Given the description of an element on the screen output the (x, y) to click on. 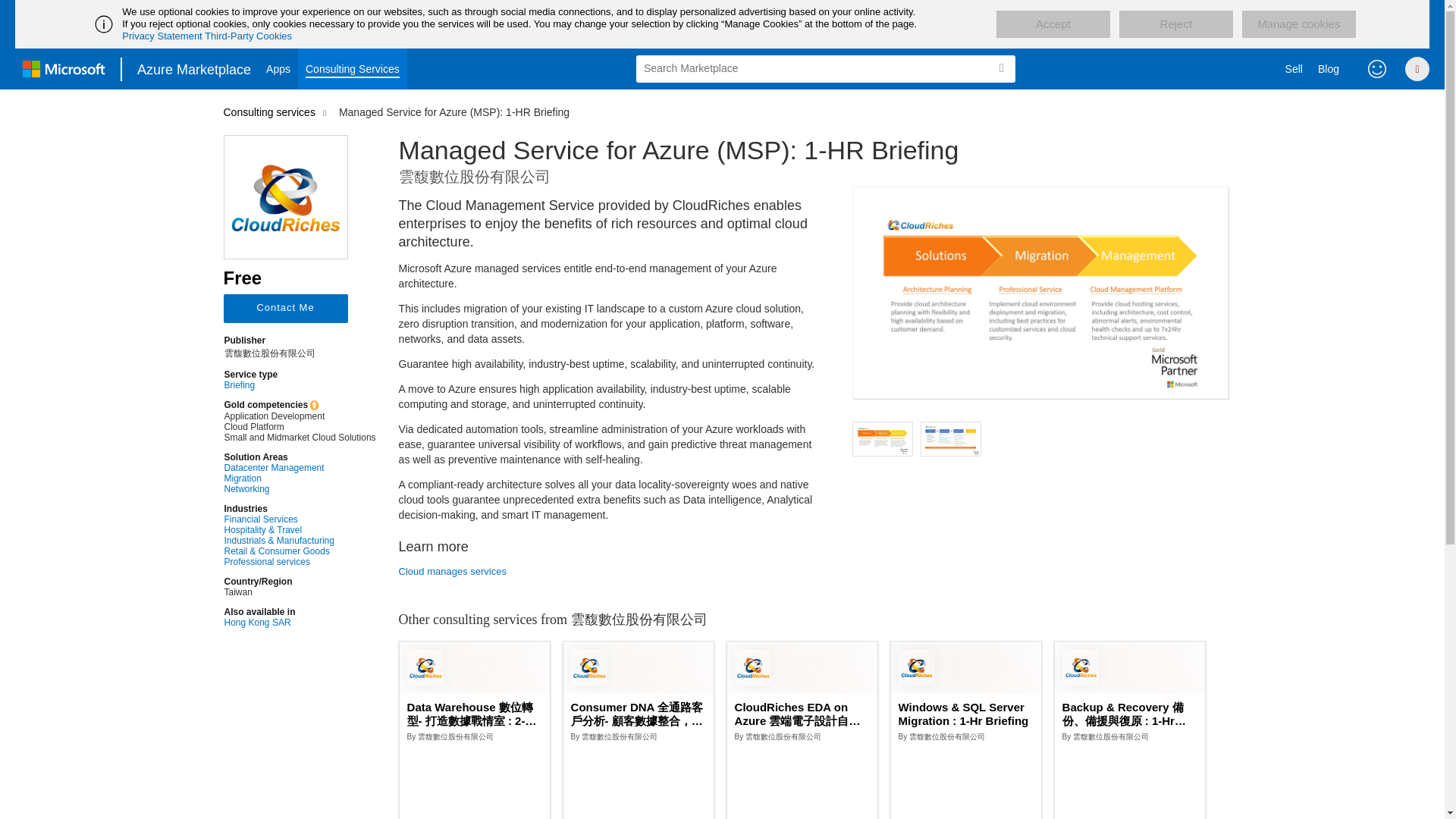
Privacy Statement (162, 35)
Reject (1176, 23)
Feedback (1377, 68)
Accept (1052, 23)
Search  (1001, 68)
Manage cookies (1298, 23)
Azure Marketplace (194, 68)
Consulting Services (352, 68)
Third-Party Cookies (248, 35)
